Given the description of an element on the screen output the (x, y) to click on. 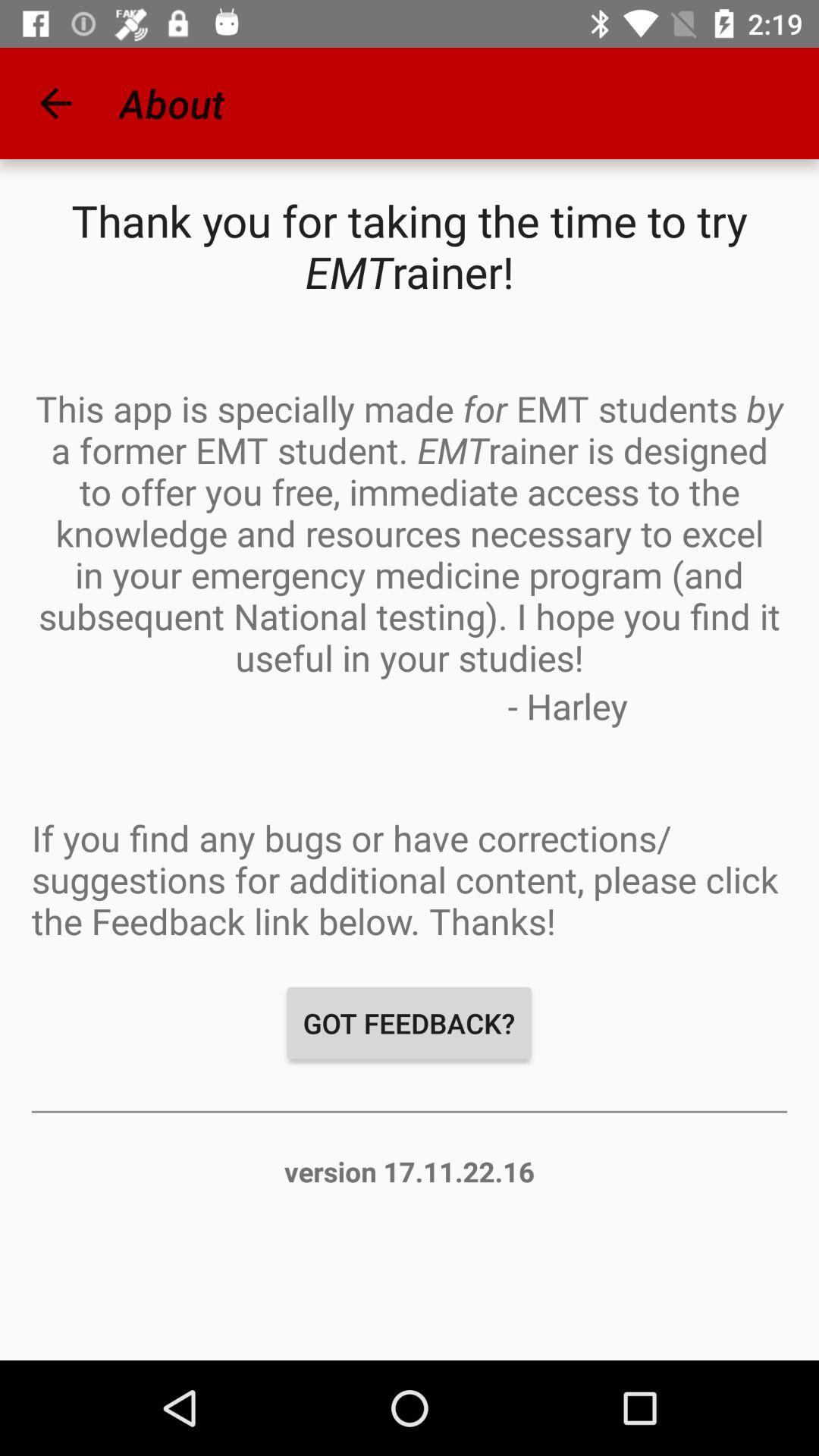
launch icon below the if you find item (409, 1022)
